Given the description of an element on the screen output the (x, y) to click on. 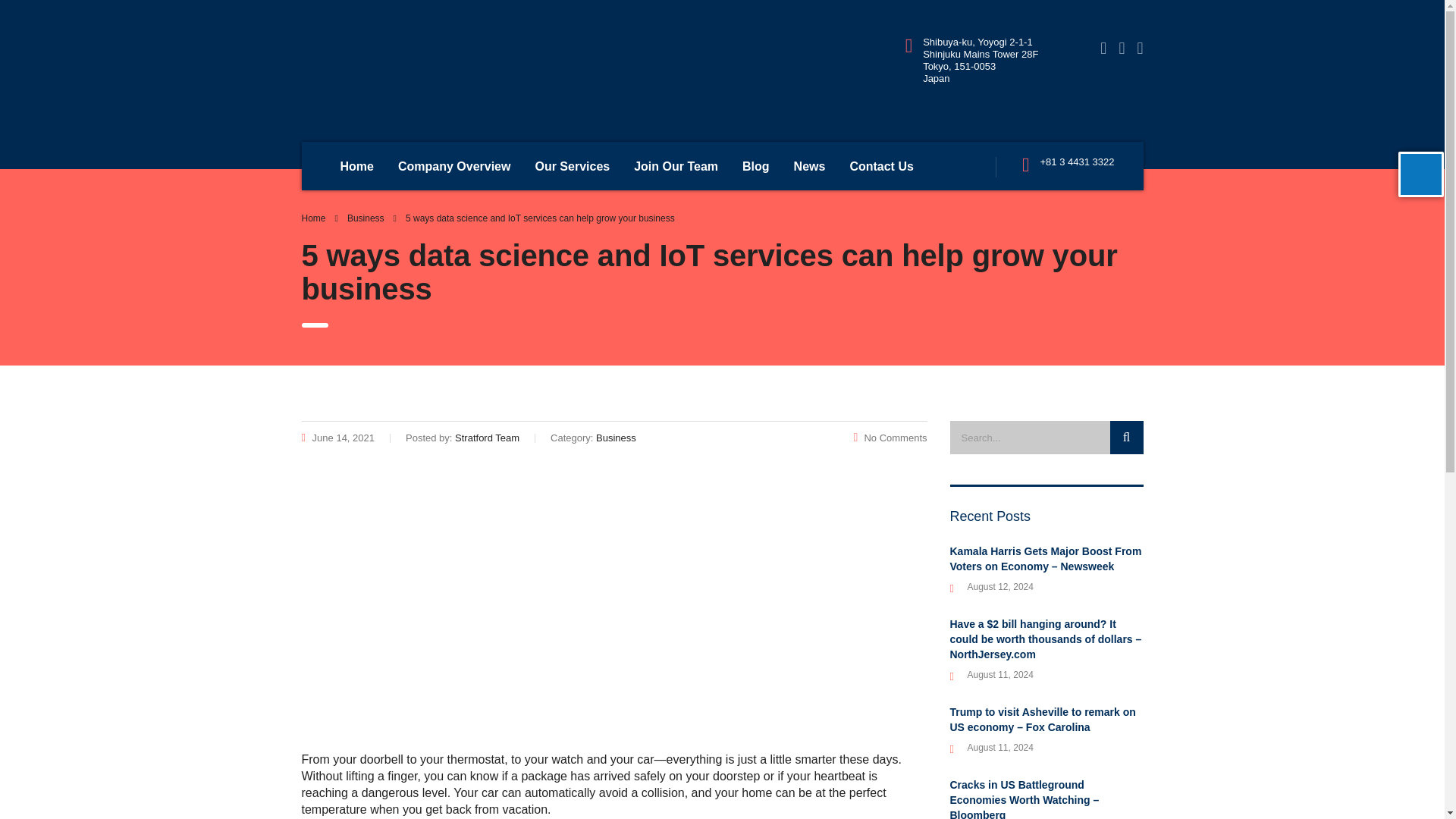
Join Our Team (675, 165)
Go to the Business category archives. (365, 217)
News (809, 165)
Contact Us (880, 165)
Go to Stratford Management Tokyo Japan. (313, 217)
Business (365, 217)
Home (356, 165)
Blog (755, 165)
No Comments (890, 437)
Our Services (571, 165)
